Given the description of an element on the screen output the (x, y) to click on. 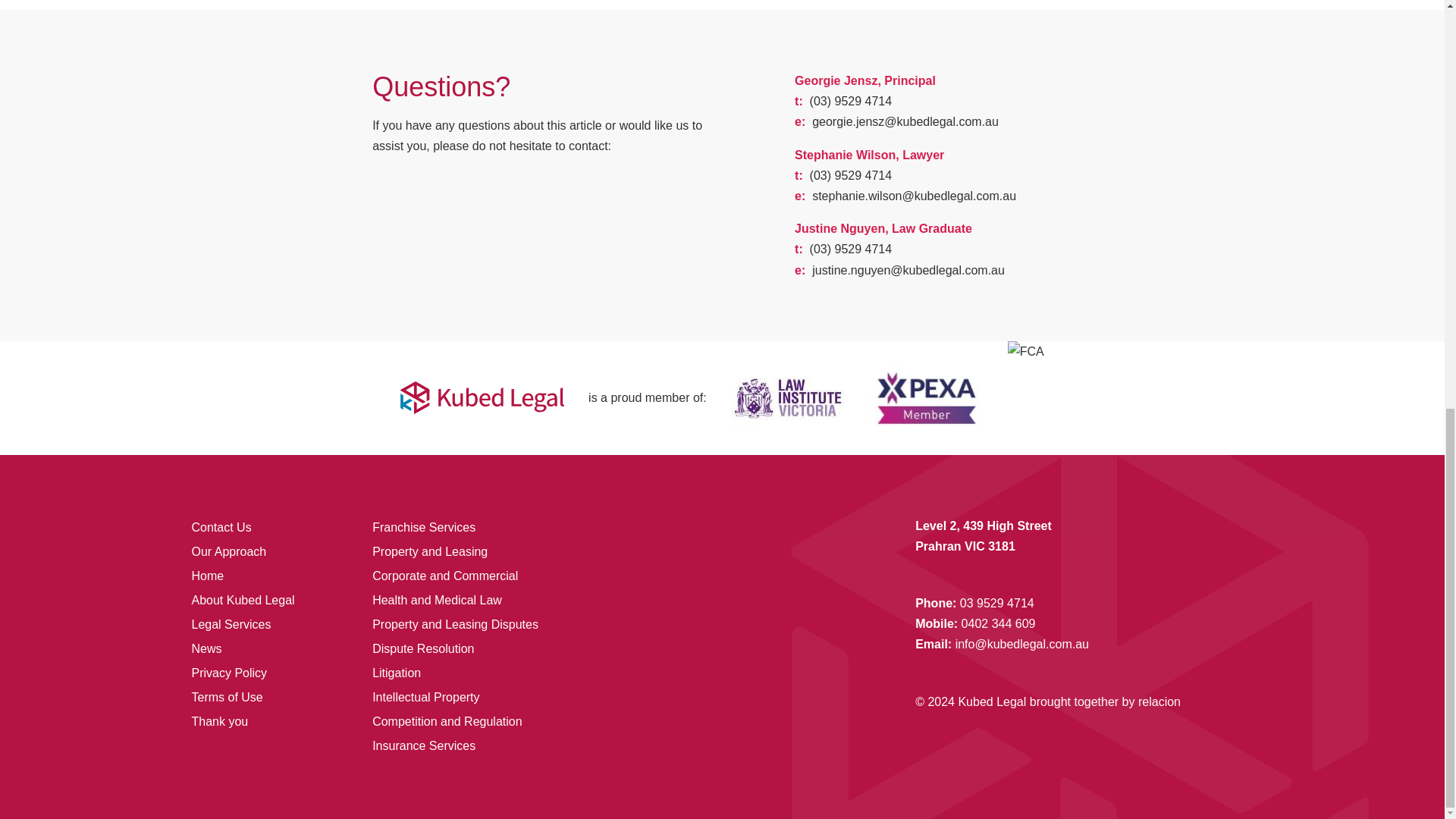
About Kubed Legal (242, 599)
Terms of Use (226, 697)
Franchise Services (424, 526)
Property and Leasing (429, 551)
Legal Services (230, 624)
News (205, 648)
Our Approach (228, 551)
Home (207, 575)
Property and Leasing Disputes (455, 624)
Thank you (218, 721)
Privacy Policy (228, 672)
Contact Us (220, 526)
Health and Medical Law (437, 599)
Corporate and Commercial (445, 575)
Dispute Resolution (423, 648)
